Given the description of an element on the screen output the (x, y) to click on. 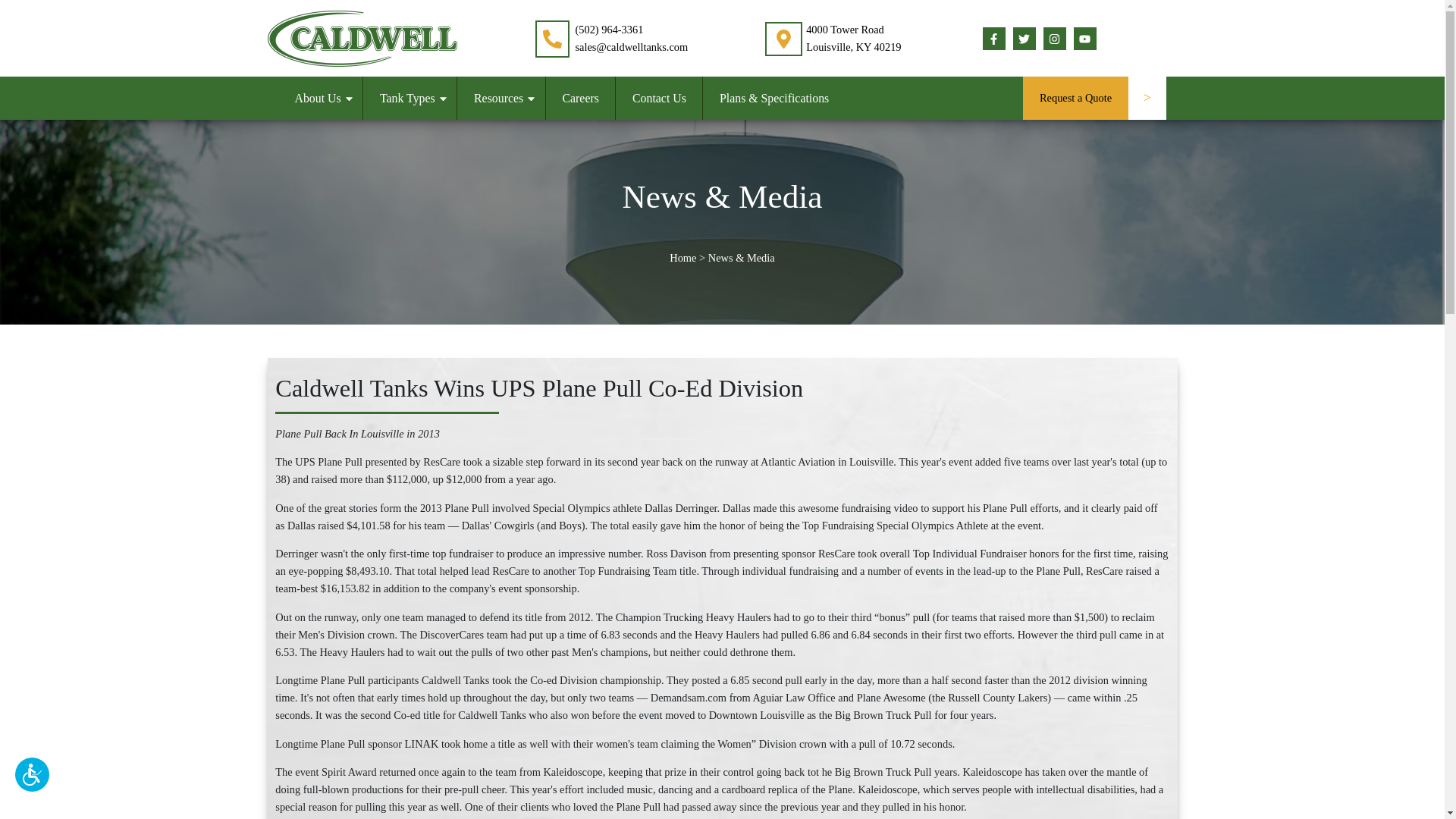
Caldwell Tanks Facebook (994, 38)
Careers (580, 98)
Caldwell Tanks Instagram (1054, 38)
Caldwell Tanks Phone Number (553, 37)
Caldwell Tanks Google Map (783, 39)
Contact Us (658, 98)
Homepage (361, 37)
Home (682, 257)
Caldwell Tanks Youtube (1085, 38)
Caldwell Tanks Twitter (1024, 38)
